Given the description of an element on the screen output the (x, y) to click on. 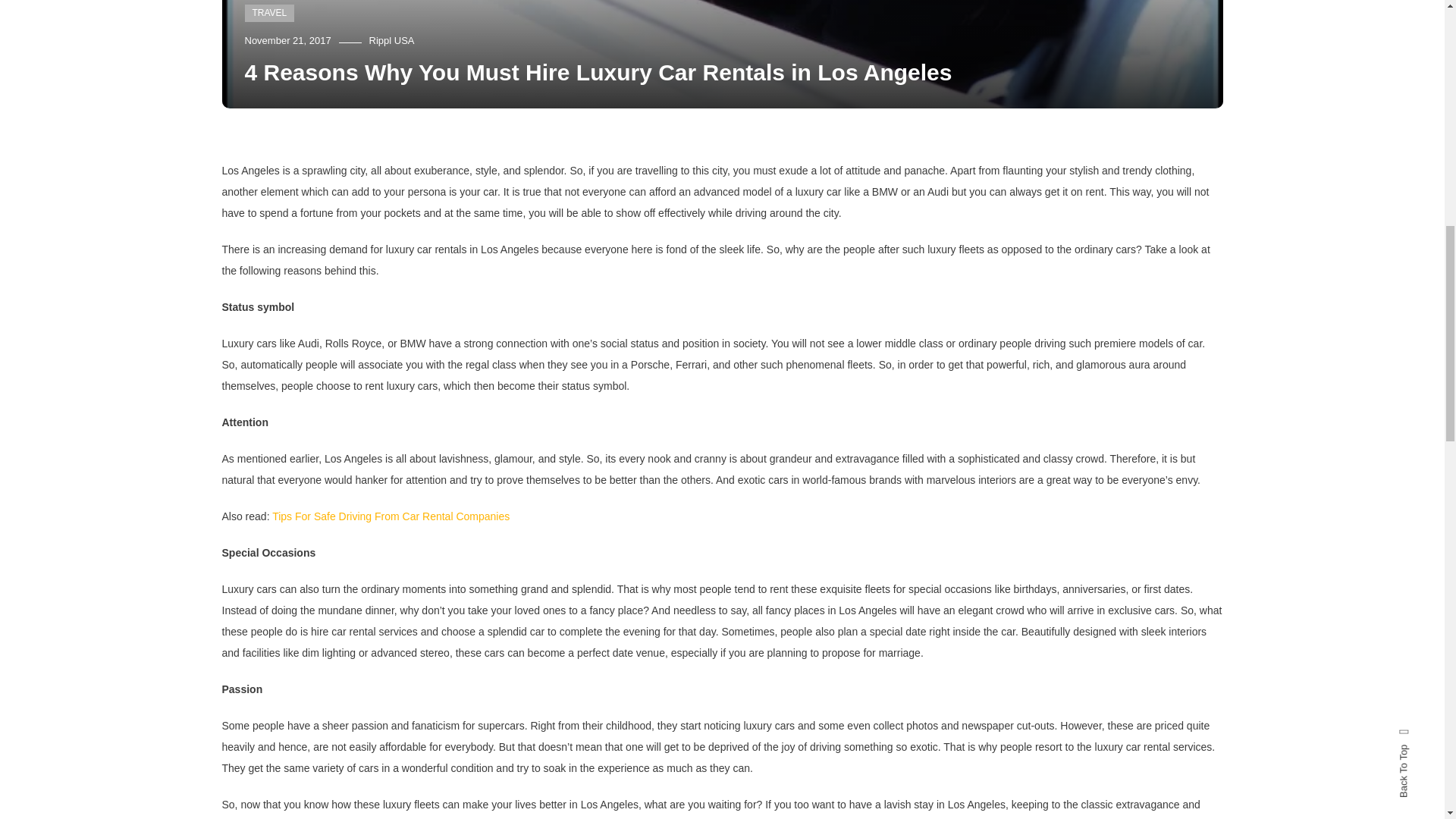
Tips For Safe Driving From Car Rental Companies (390, 516)
TRAVEL (269, 13)
November 21, 2017 (287, 40)
Rippl USA (391, 40)
